Given the description of an element on the screen output the (x, y) to click on. 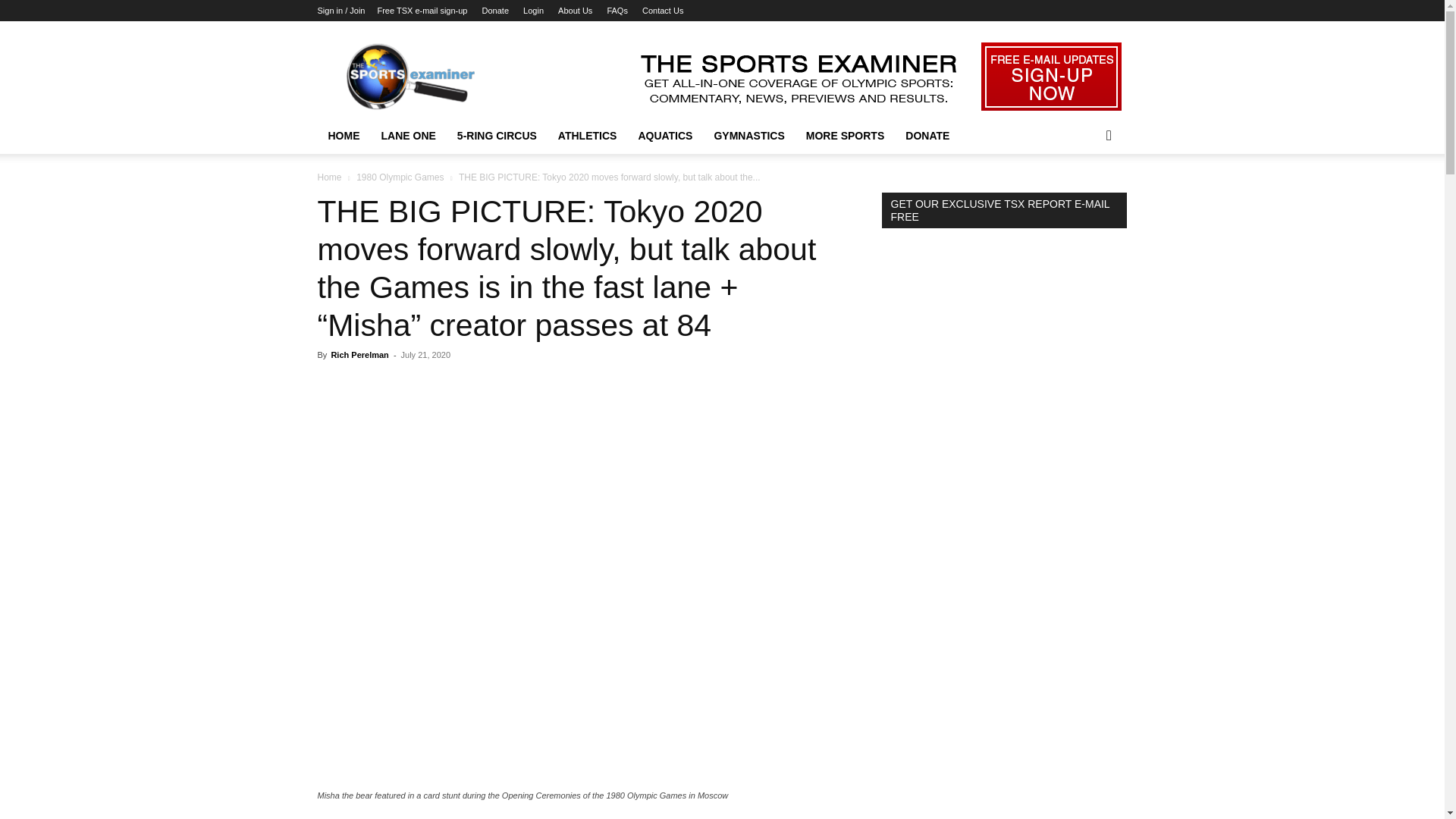
FAQs (617, 10)
Contact Us (662, 10)
5-RING CIRCUS (496, 135)
LANE ONE (407, 135)
About Us (574, 10)
Login (532, 10)
Free TSX e-mail sign-up (422, 10)
Donate (494, 10)
HOME (343, 135)
The Sports Examiner (446, 76)
